Given the description of an element on the screen output the (x, y) to click on. 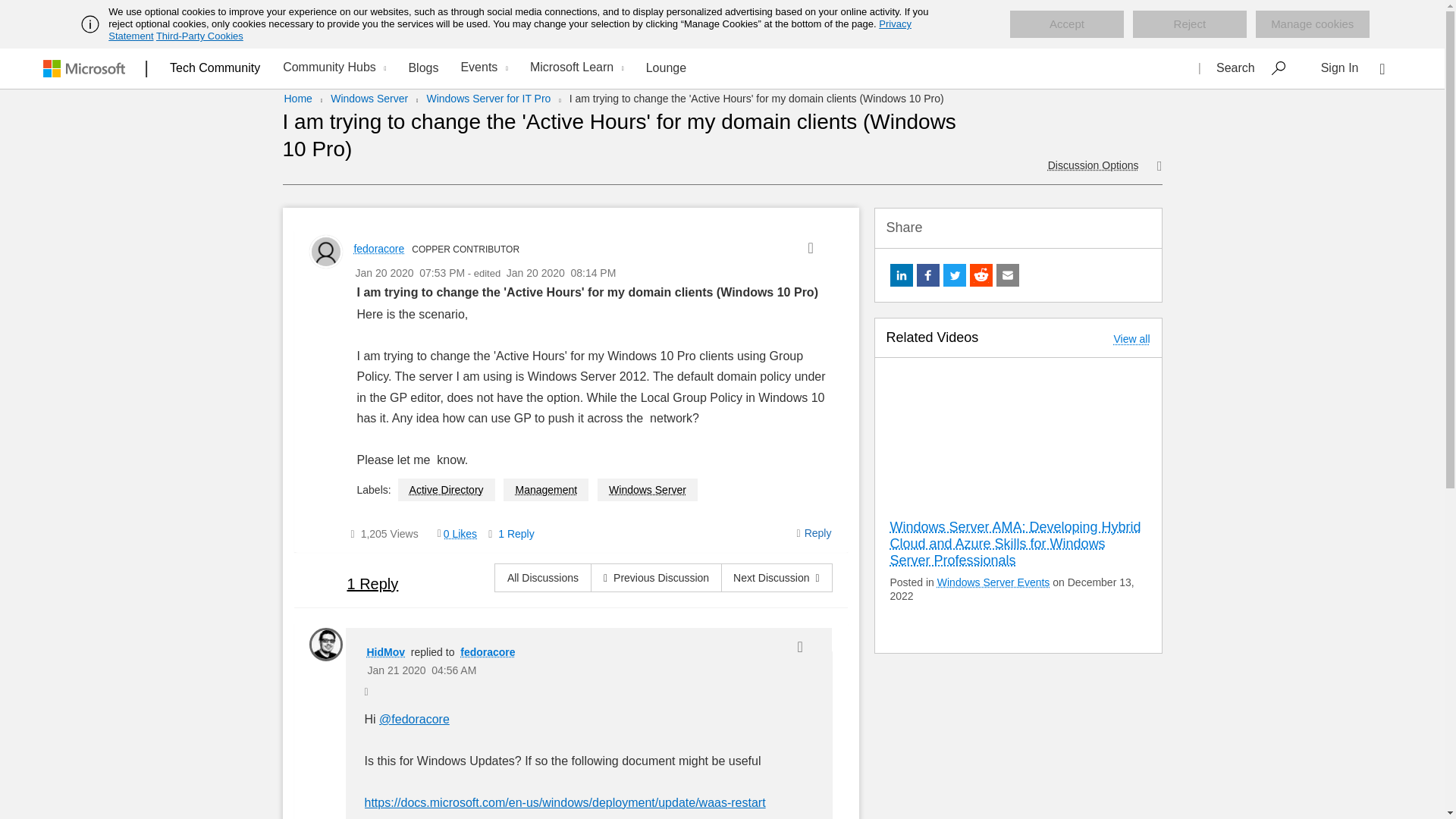
Manage cookies (1312, 23)
Community Hubs (332, 67)
Third-Party Cookies (199, 35)
Privacy Statement (509, 29)
Tech Community (215, 67)
Reject (1189, 23)
Accept (1067, 23)
